Given the description of an element on the screen output the (x, y) to click on. 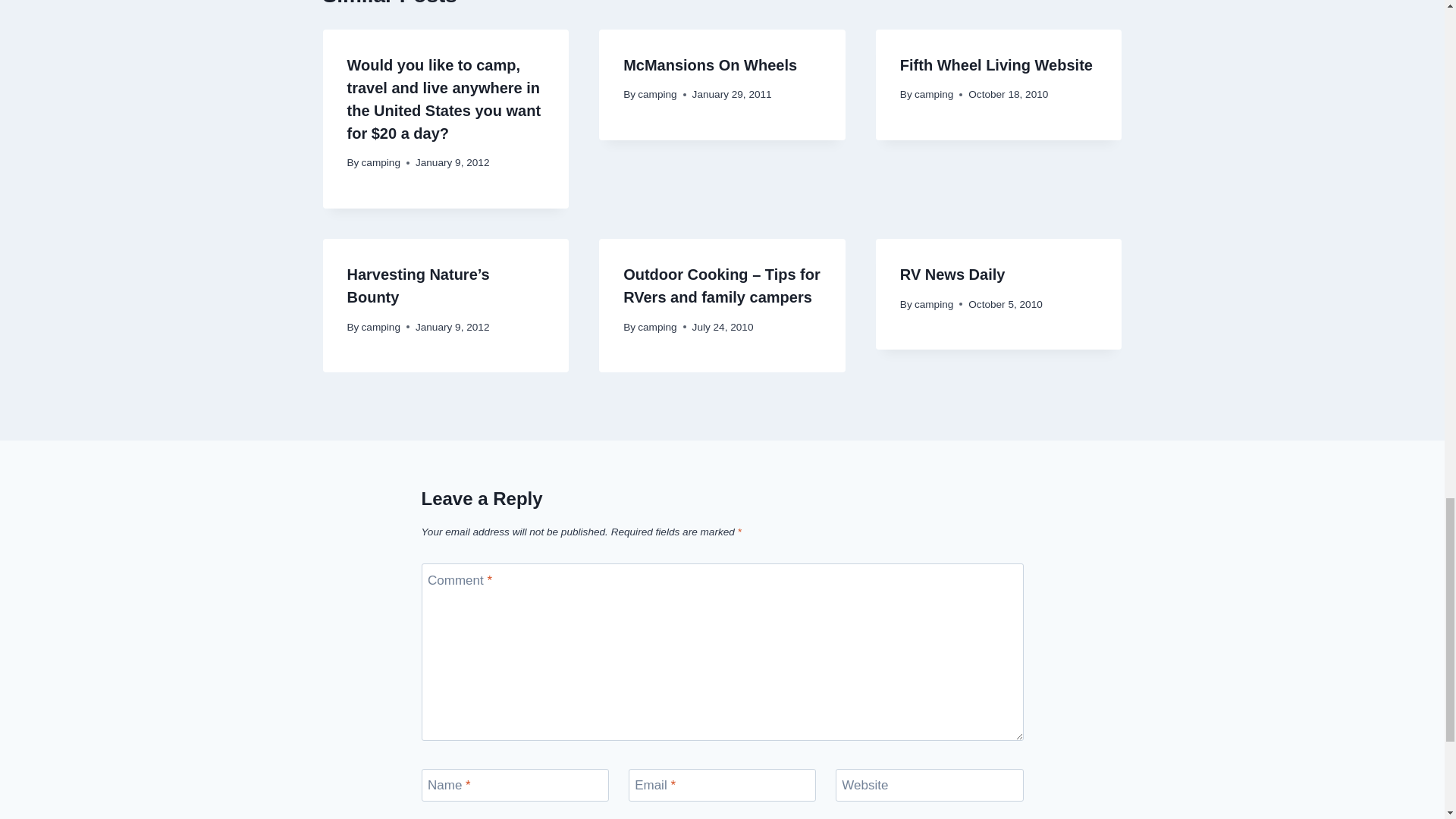
camping (933, 304)
camping (380, 326)
Fifth Wheel Living Website (996, 64)
RV News Daily (952, 274)
camping (380, 162)
McMansions On Wheels (709, 64)
camping (657, 326)
camping (657, 93)
camping (933, 93)
